Given the description of an element on the screen output the (x, y) to click on. 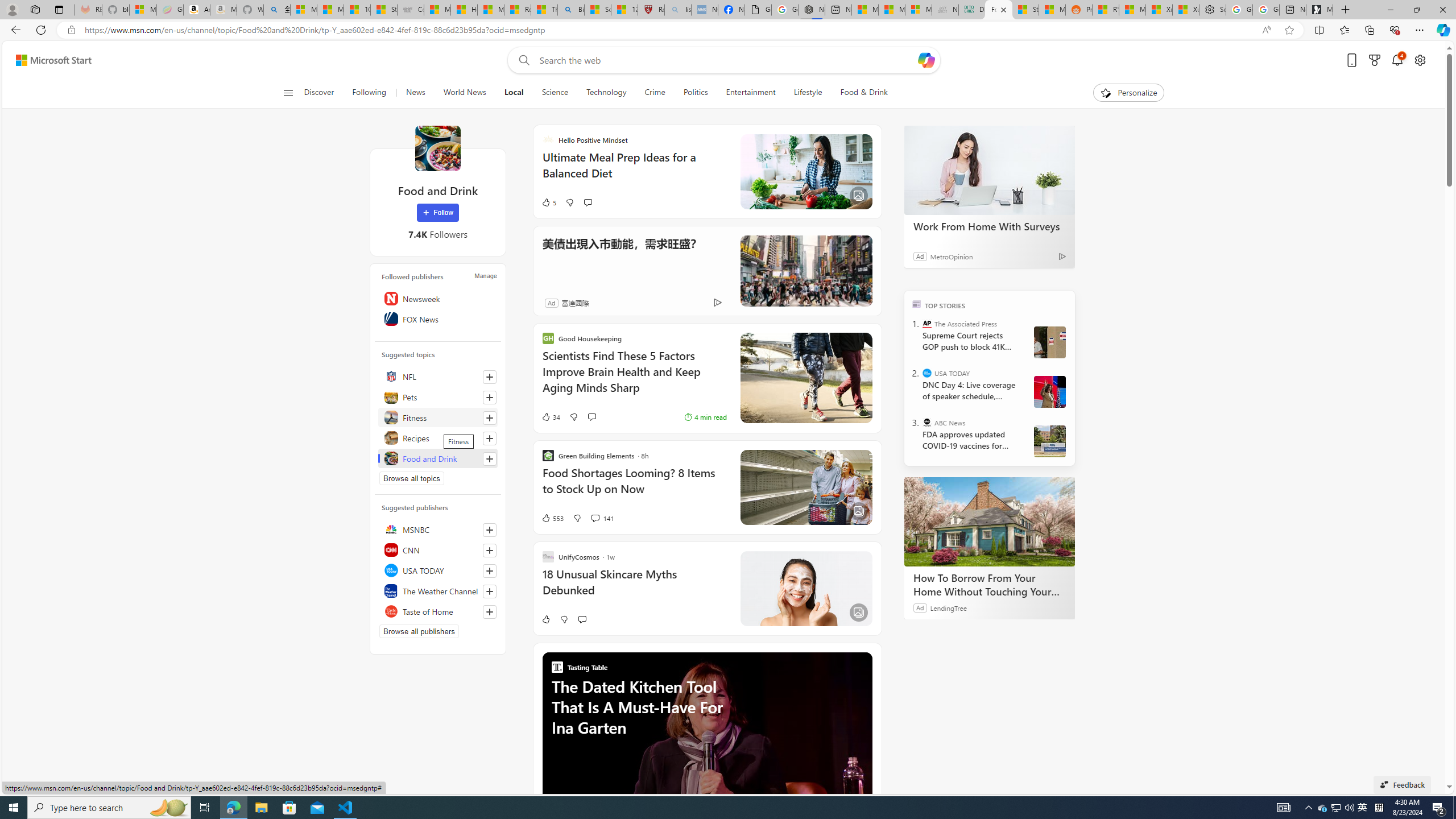
Dislike (563, 619)
View comments 141 Comment (594, 517)
USA TODAY (927, 372)
12 Popular Science Lies that Must be Corrected (623, 9)
Start the conversation (581, 619)
553 Like (551, 517)
